Given the description of an element on the screen output the (x, y) to click on. 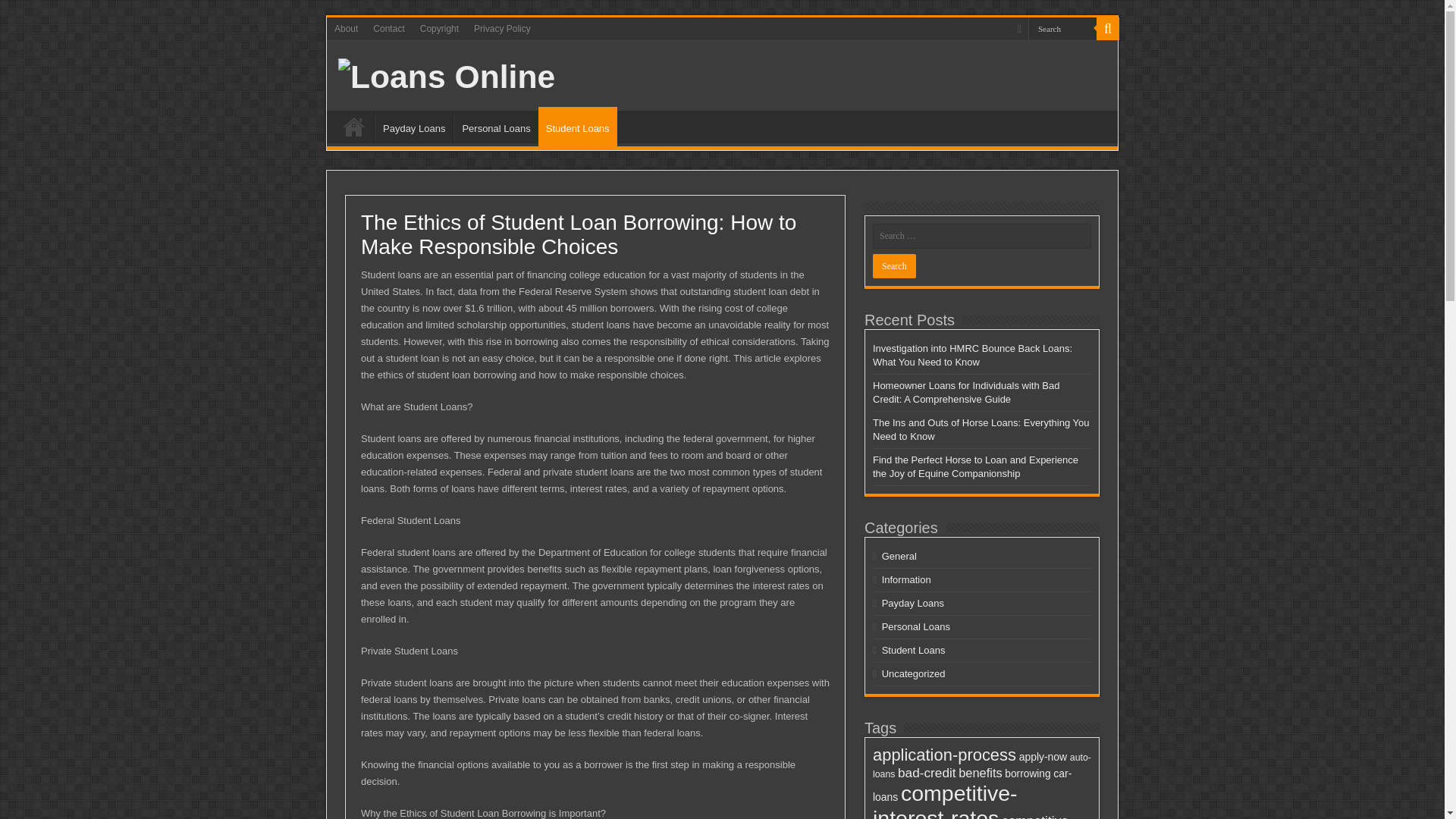
borrowing (1026, 773)
General (899, 555)
LOANS (354, 126)
apply-now (1043, 756)
benefits (979, 772)
application-process (944, 754)
Loans Online  (445, 74)
competitive-interest-rates (944, 800)
car-loans (971, 785)
Personal Loans (916, 626)
Copyright (438, 28)
Search (893, 265)
Payday Loans (912, 603)
